Given the description of an element on the screen output the (x, y) to click on. 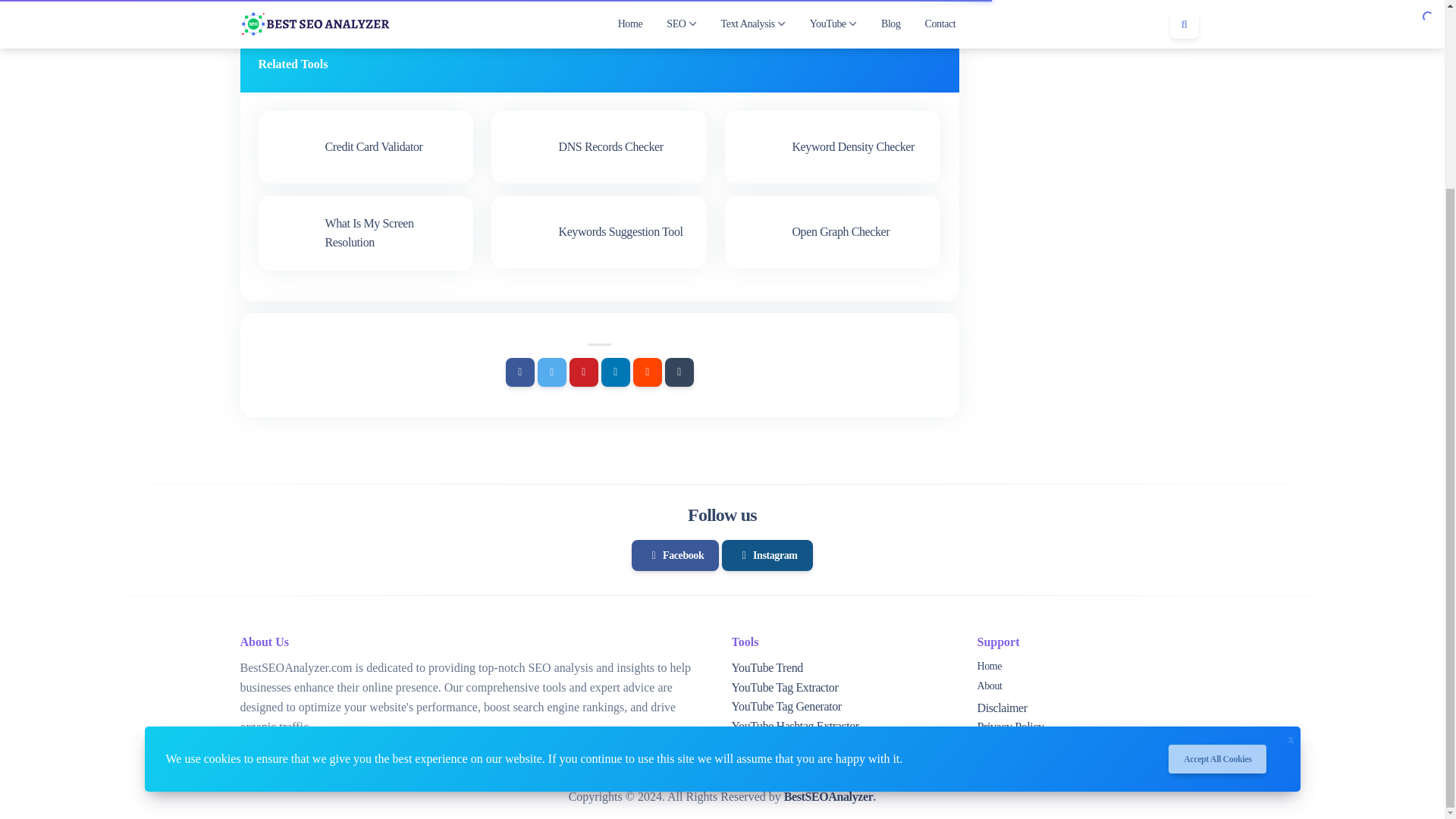
DNS Records Checker (599, 146)
YouTube Channel ID (779, 744)
Keywords Suggestion Tool (599, 231)
Sample (604, 2)
Credit Card Validator (365, 146)
Reset (666, 2)
YouTube Tag Generator (785, 706)
Open Graph Checker (832, 231)
Analyze (537, 2)
Keyword Density Checker (832, 146)
